Given the description of an element on the screen output the (x, y) to click on. 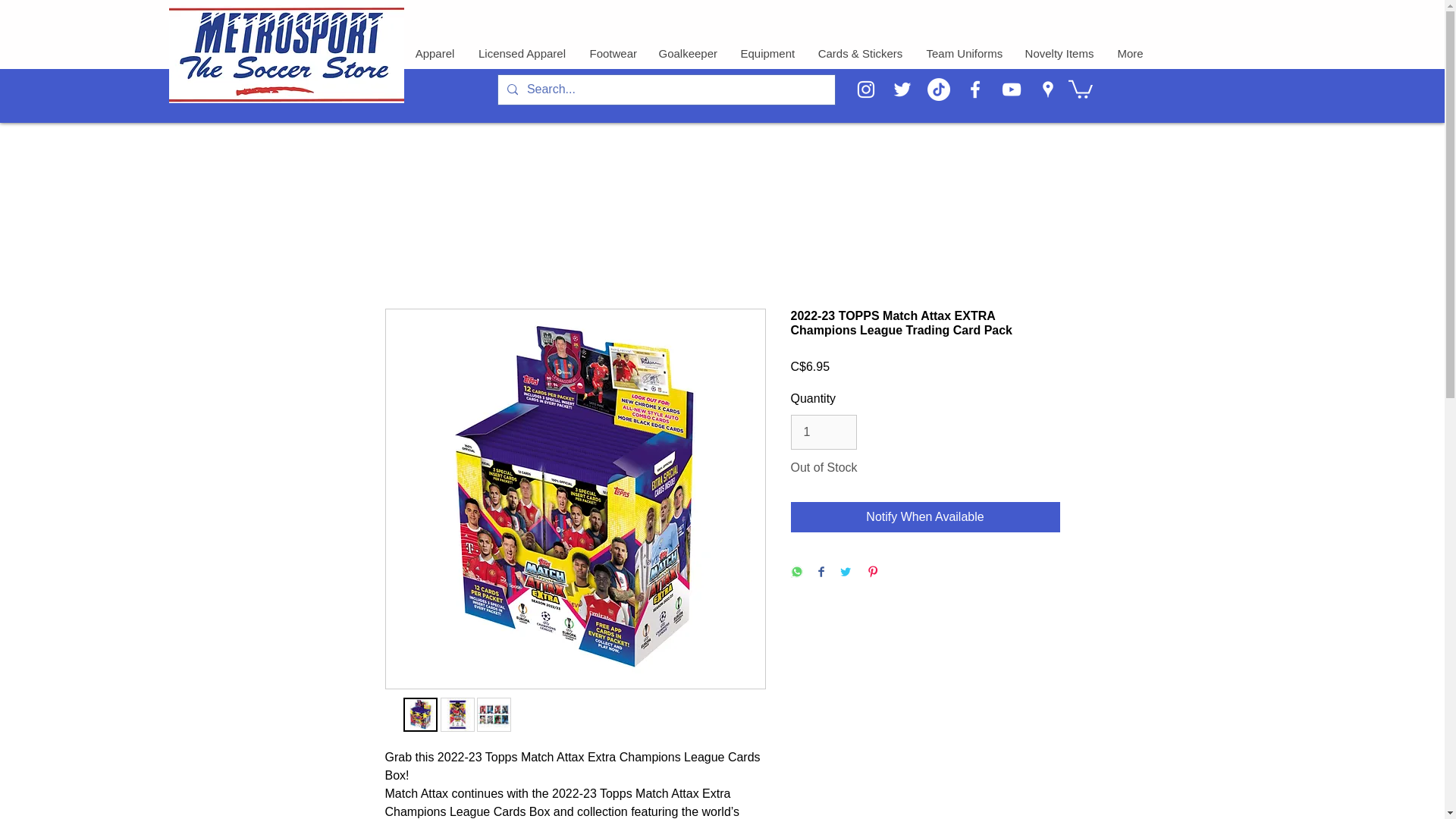
1 (823, 431)
Apparel (434, 53)
